Given the description of an element on the screen output the (x, y) to click on. 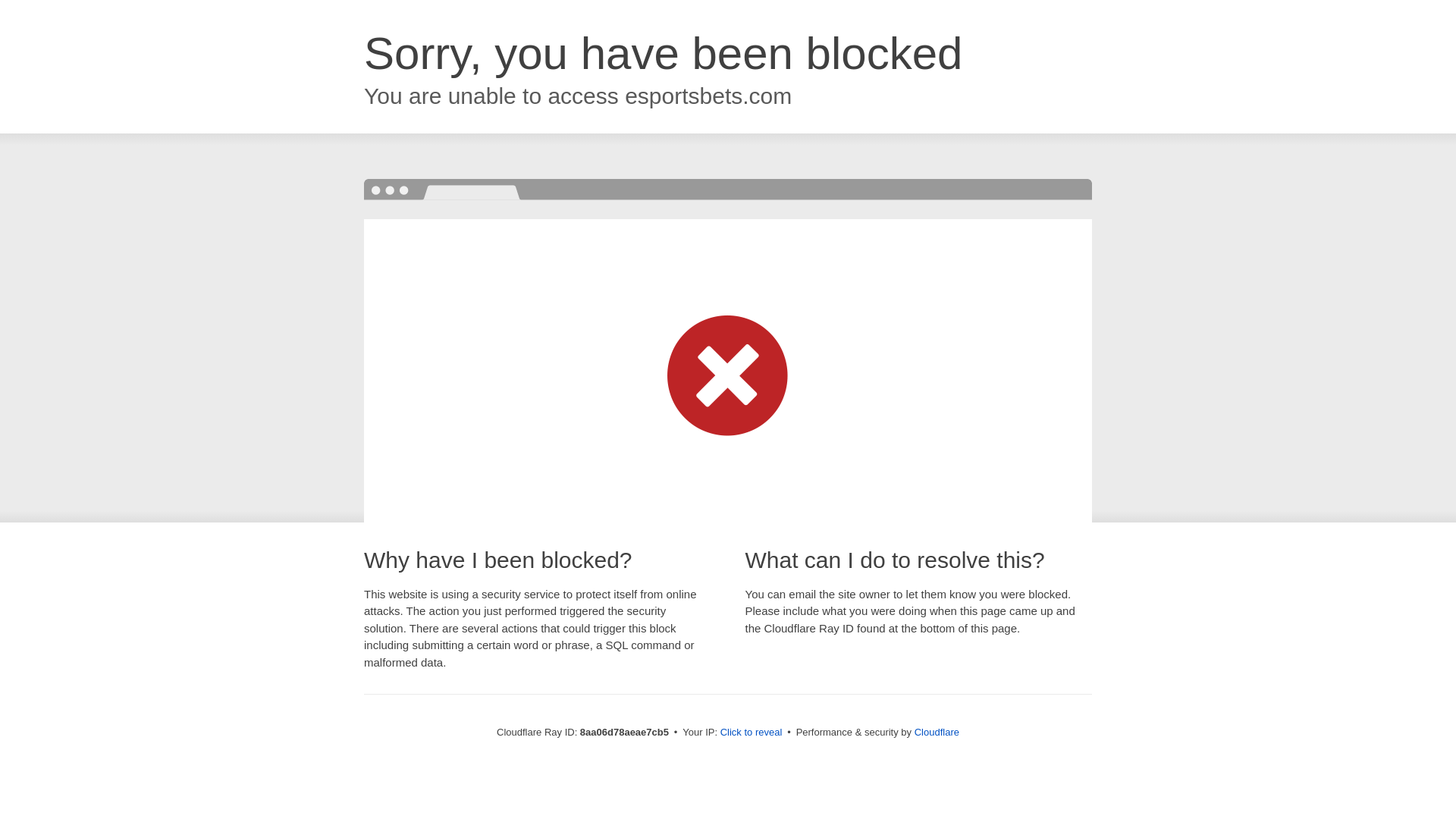
Click to reveal (751, 732)
Cloudflare (936, 731)
